Given the description of an element on the screen output the (x, y) to click on. 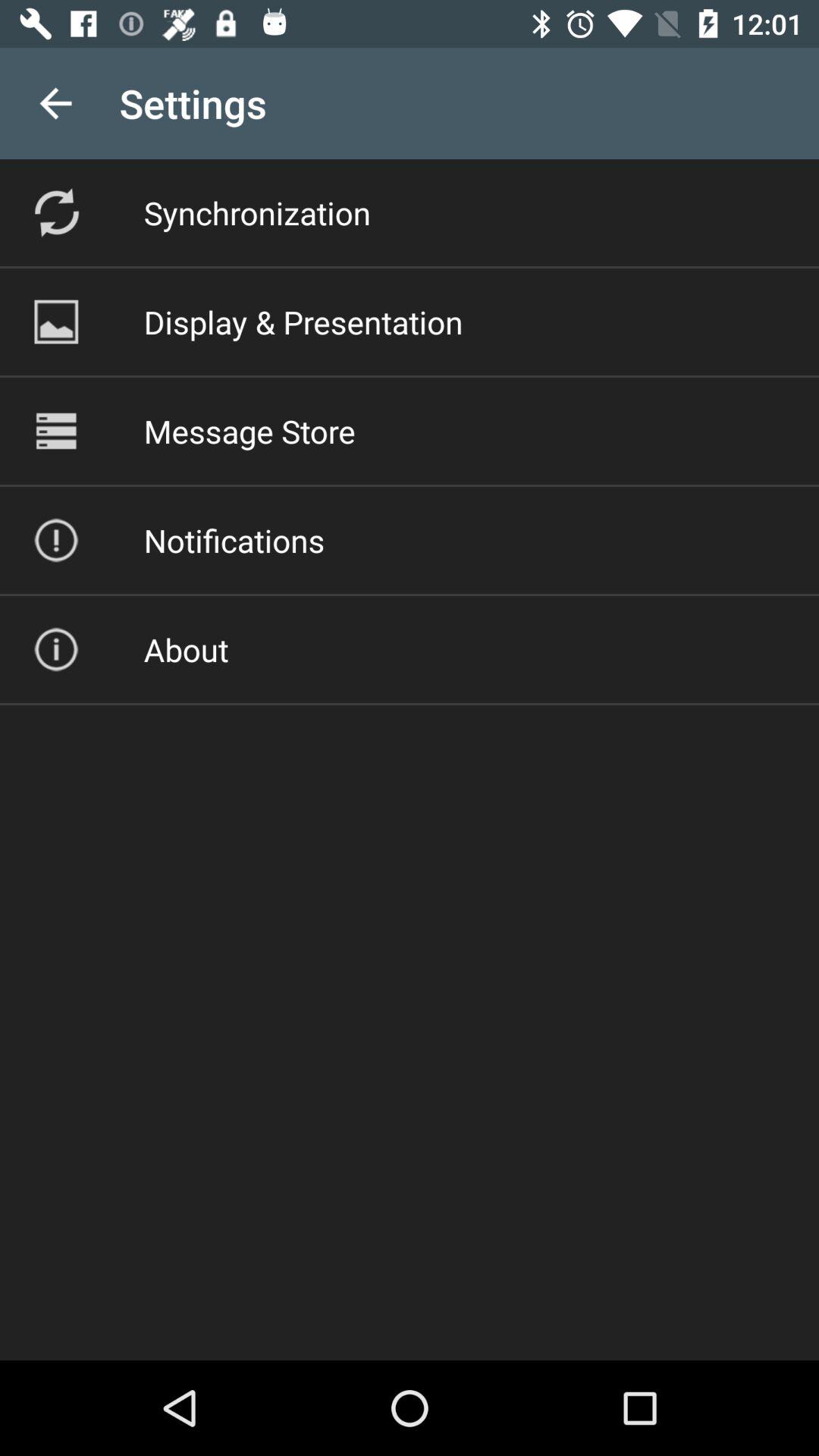
launch item below synchronization (302, 321)
